Given the description of an element on the screen output the (x, y) to click on. 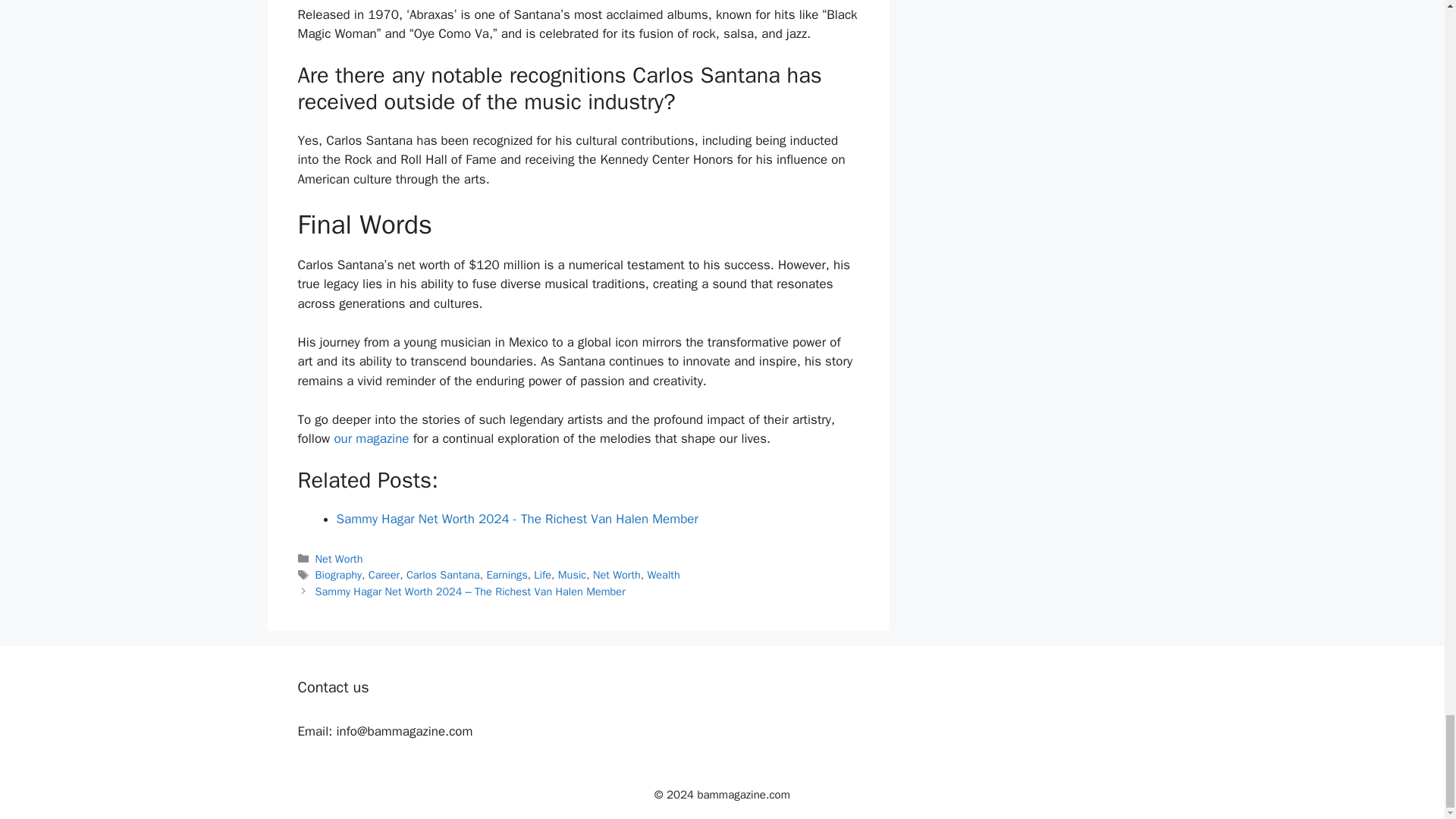
our magazine (371, 438)
Net Worth (616, 574)
Career (384, 574)
Carlos Santana (443, 574)
Sammy Hagar Net Worth 2024 - The Richest Van Halen Member (517, 519)
Biography (338, 574)
Life (542, 574)
Earnings (506, 574)
Music (571, 574)
Net Worth (338, 558)
